Given the description of an element on the screen output the (x, y) to click on. 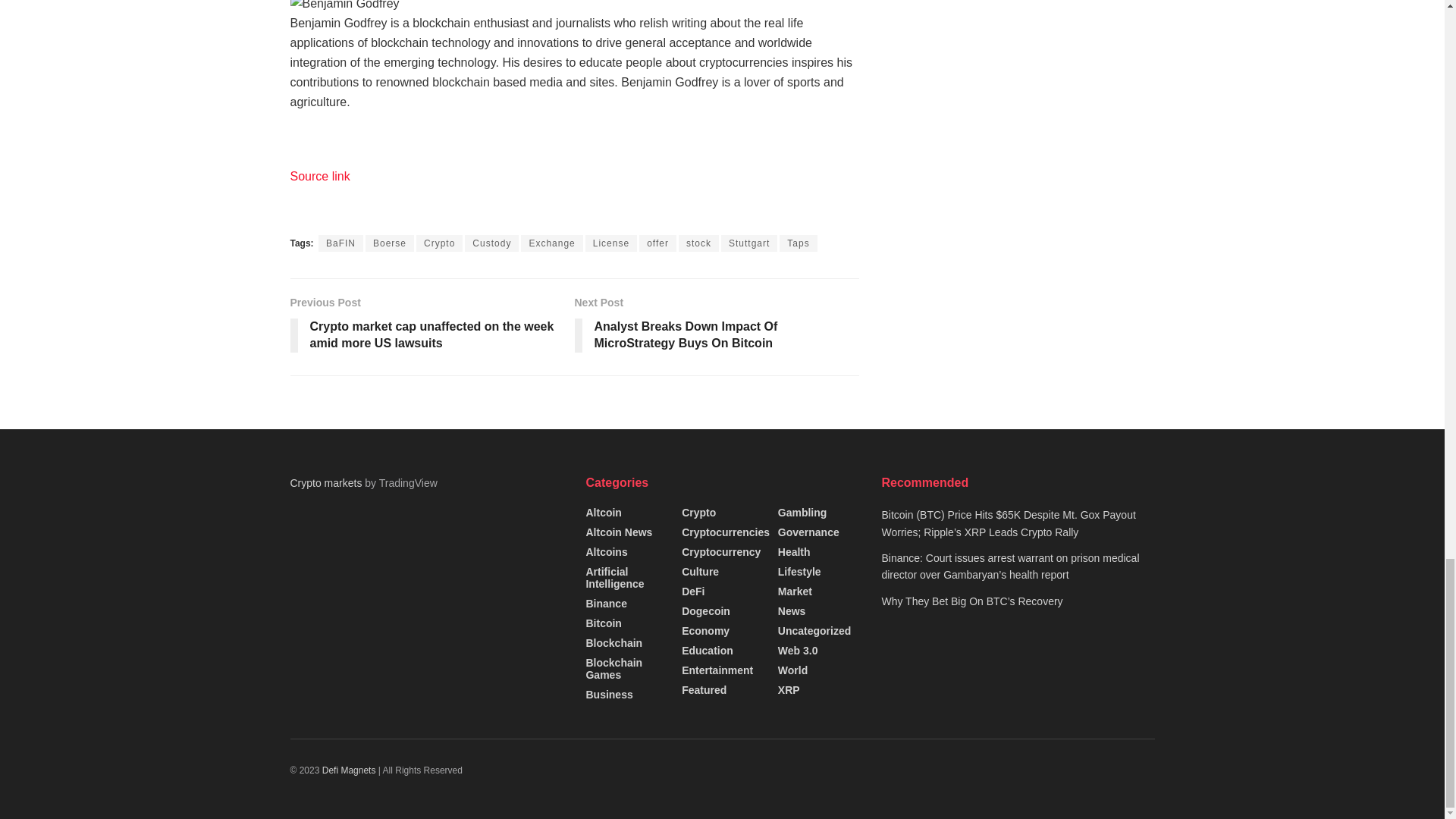
Premium news  (349, 769)
Source link (319, 175)
